Given the description of an element on the screen output the (x, y) to click on. 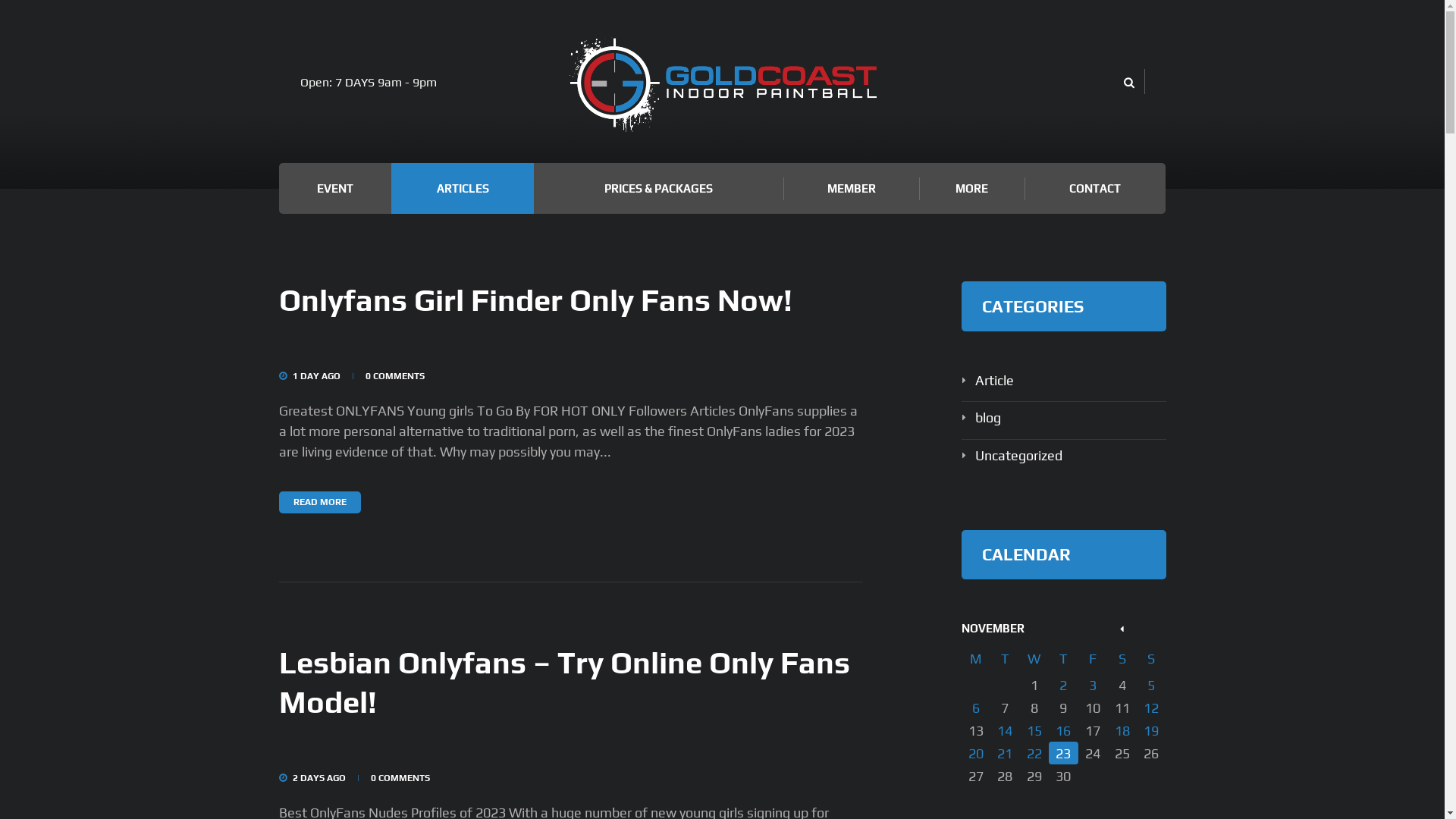
0 COMMENTS Element type: text (394, 376)
MORE Element type: text (971, 188)
blog Element type: text (988, 417)
3 Element type: text (1092, 684)
19 Element type: text (1151, 729)
15 Element type: text (1034, 729)
Uncategorized Element type: text (1018, 455)
18 Element type: text (1121, 729)
CONTACT Element type: text (1094, 188)
2 DAYS AGO Element type: text (318, 777)
EVENT Element type: text (335, 188)
14 Element type: text (1004, 729)
16 Element type: text (1063, 729)
5 Element type: text (1151, 684)
READ MORE Element type: text (319, 502)
Open search Element type: hover (1127, 83)
Onlyfans Girl Finder Only Fans Now! Element type: text (535, 299)
2 Element type: text (1063, 684)
21 Element type: text (1004, 752)
MEMBER Element type: text (851, 188)
6 Element type: text (976, 707)
0 COMMENTS Element type: text (399, 778)
20 Element type: text (976, 752)
12 Element type: text (1151, 707)
1 DAY AGO Element type: text (316, 375)
PRICES & PACKAGES Element type: text (658, 188)
ARTICLES Element type: text (462, 188)
NOVEMBER Element type: text (992, 627)
View posts for October 2023 Element type: hover (1121, 628)
22 Element type: text (1034, 752)
Article Element type: text (994, 380)
